Given the description of an element on the screen output the (x, y) to click on. 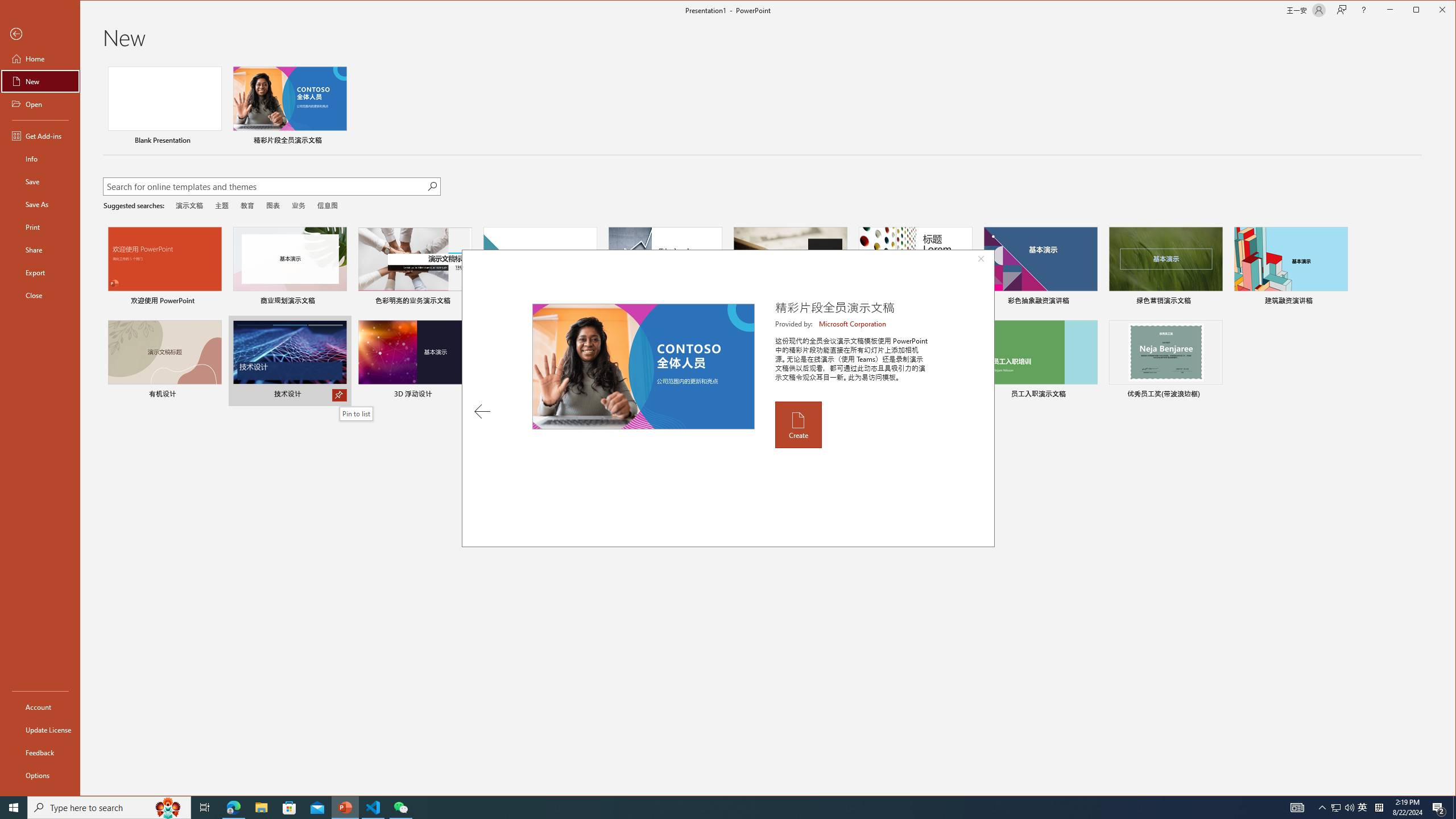
Running applications (707, 807)
Preview (643, 366)
Options (40, 775)
